Given the description of an element on the screen output the (x, y) to click on. 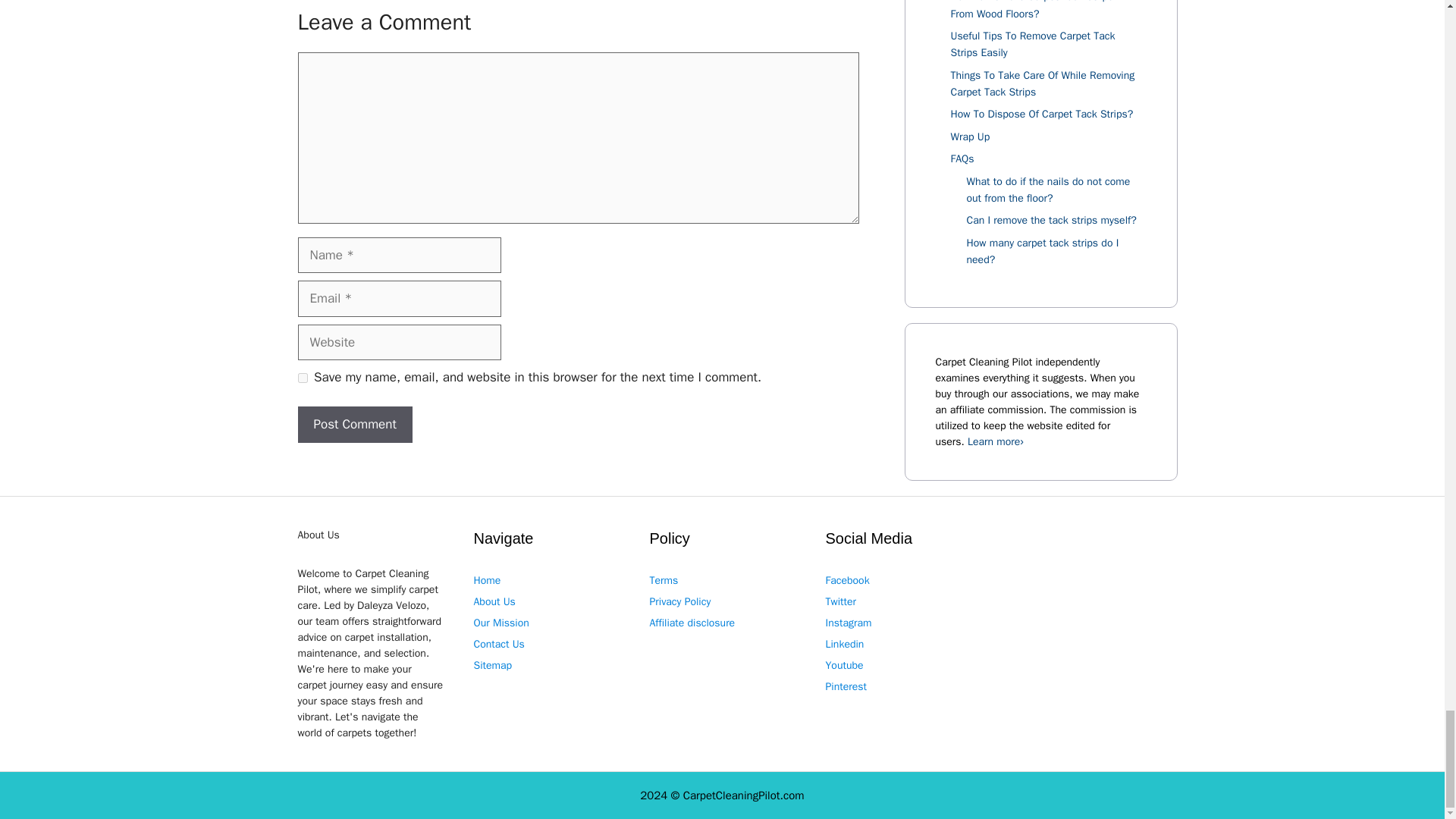
Sitemap (492, 665)
yes (302, 378)
Our Mission (500, 622)
Terms (663, 580)
About Us (494, 601)
Post Comment (354, 424)
Post Comment (354, 424)
Contact Us (498, 644)
Home (486, 580)
